Given the description of an element on the screen output the (x, y) to click on. 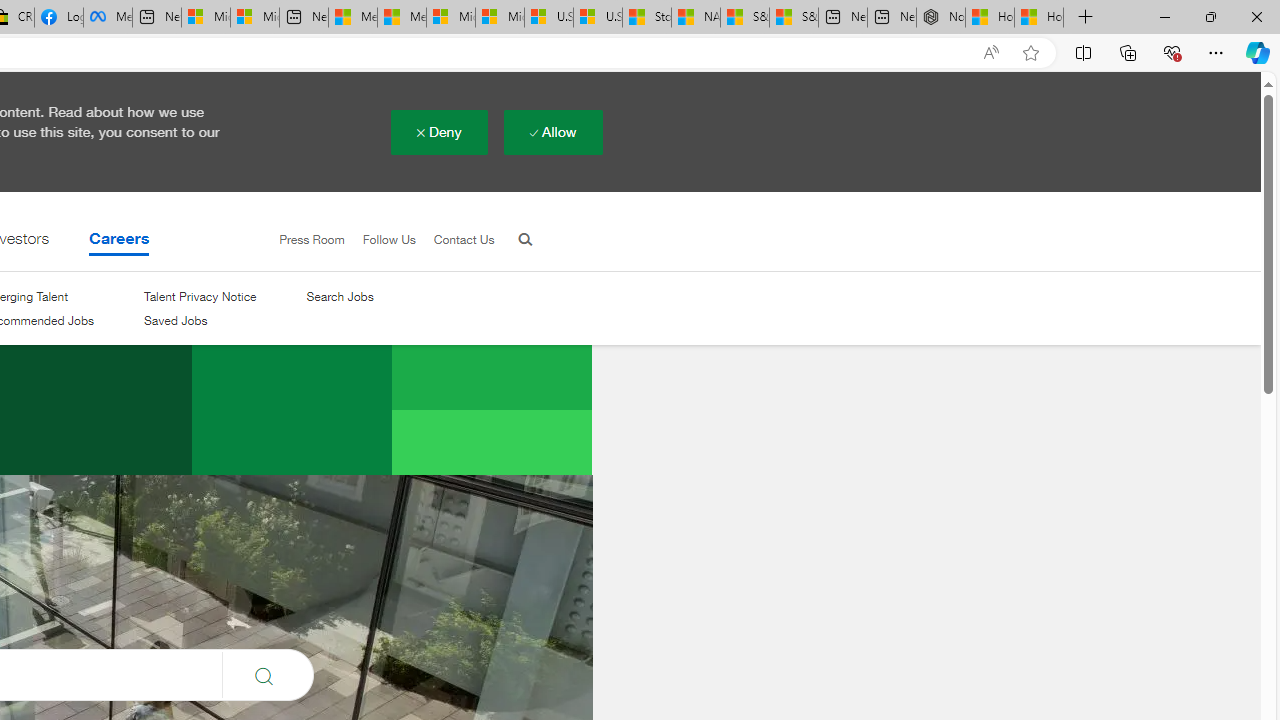
Careers (119, 243)
Contact Us (463, 239)
Microsoft account | Privacy (254, 17)
Follow Us (380, 240)
Careers (119, 243)
Meta Store (107, 17)
Saved Jobs (175, 321)
Talent Privacy Notice (200, 296)
